Given the description of an element on the screen output the (x, y) to click on. 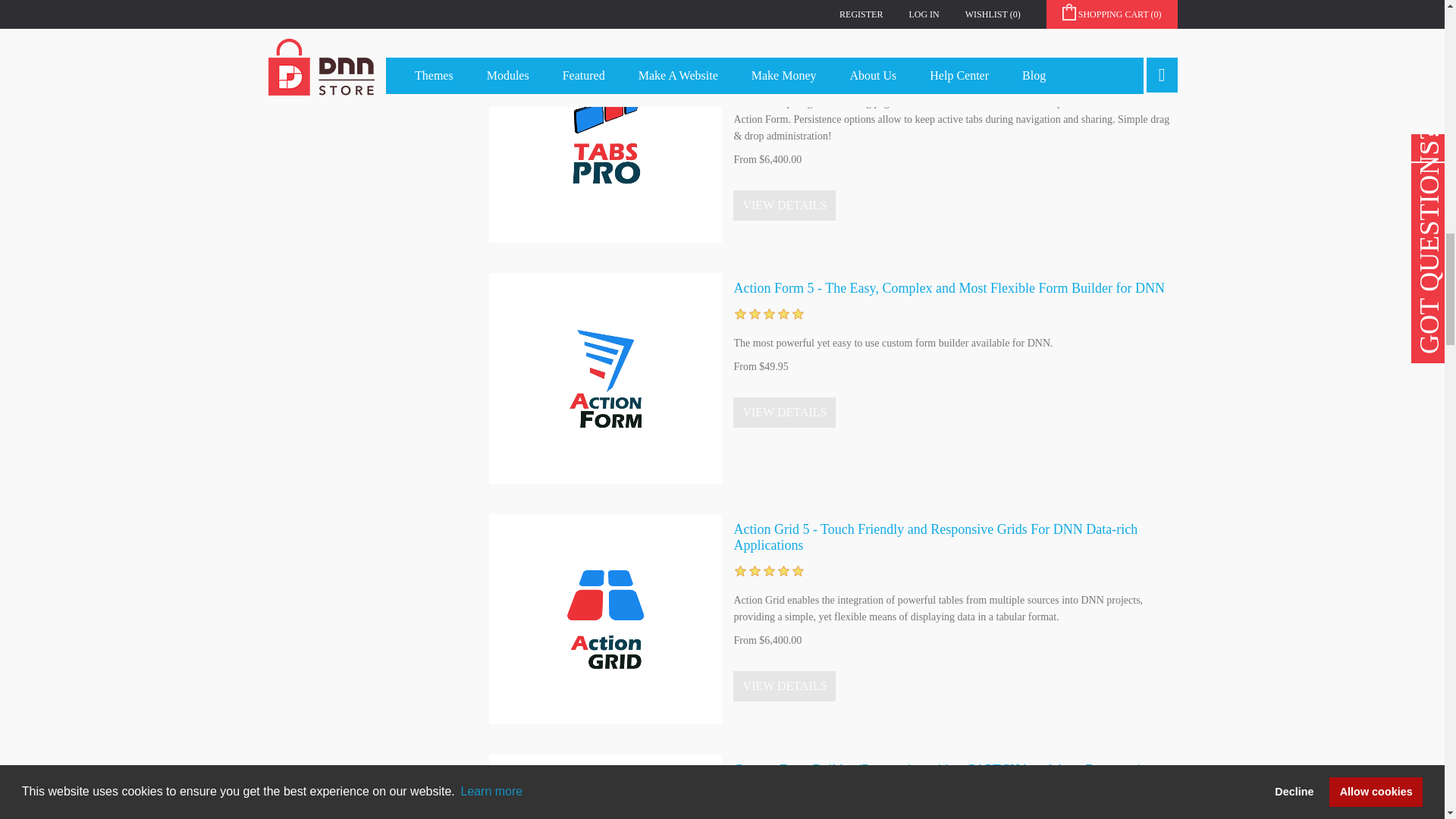
View Details (784, 412)
View Details (784, 205)
View Details (784, 685)
